Given the description of an element on the screen output the (x, y) to click on. 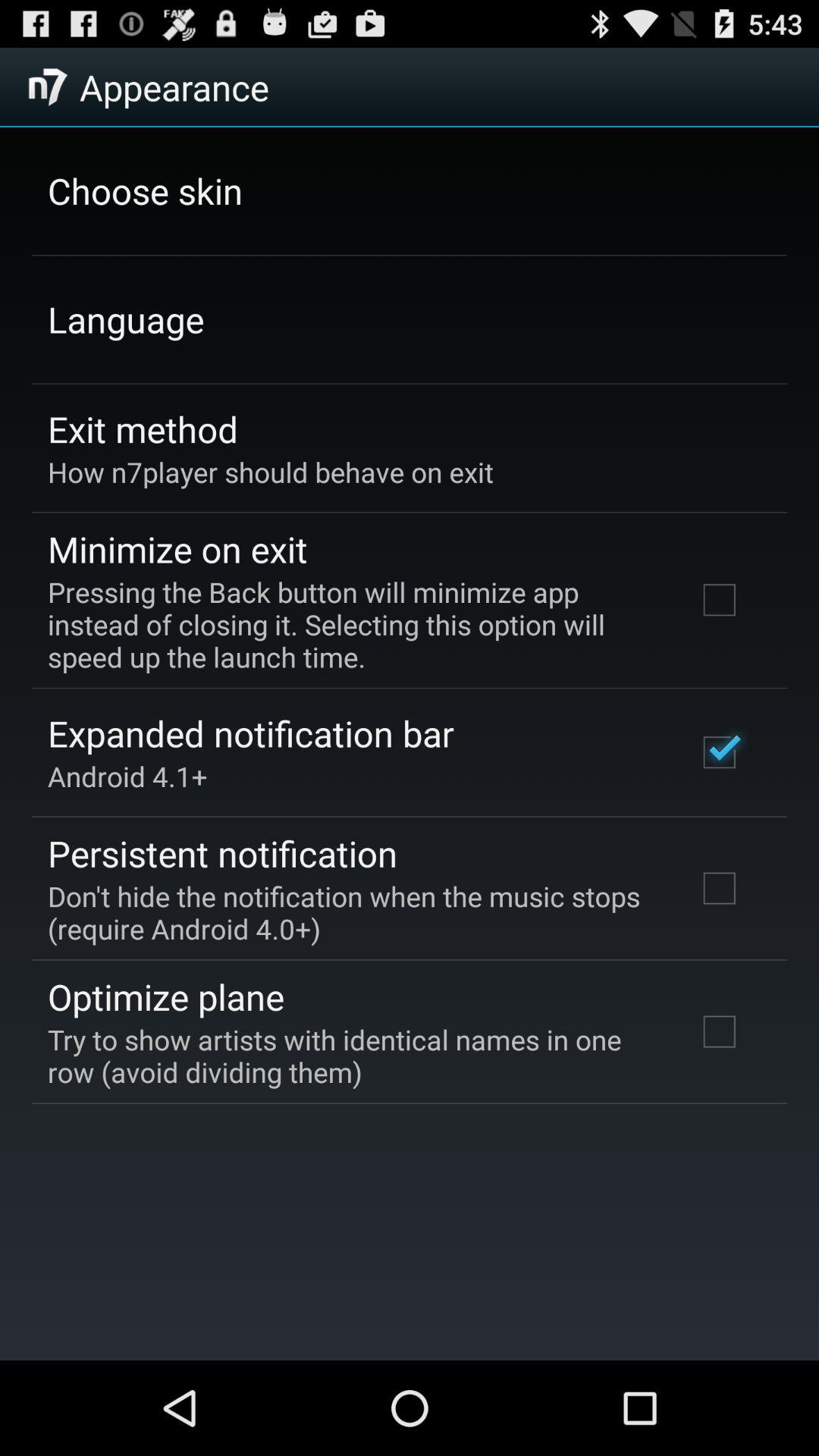
turn off the icon above don t hide icon (222, 853)
